Given the description of an element on the screen output the (x, y) to click on. 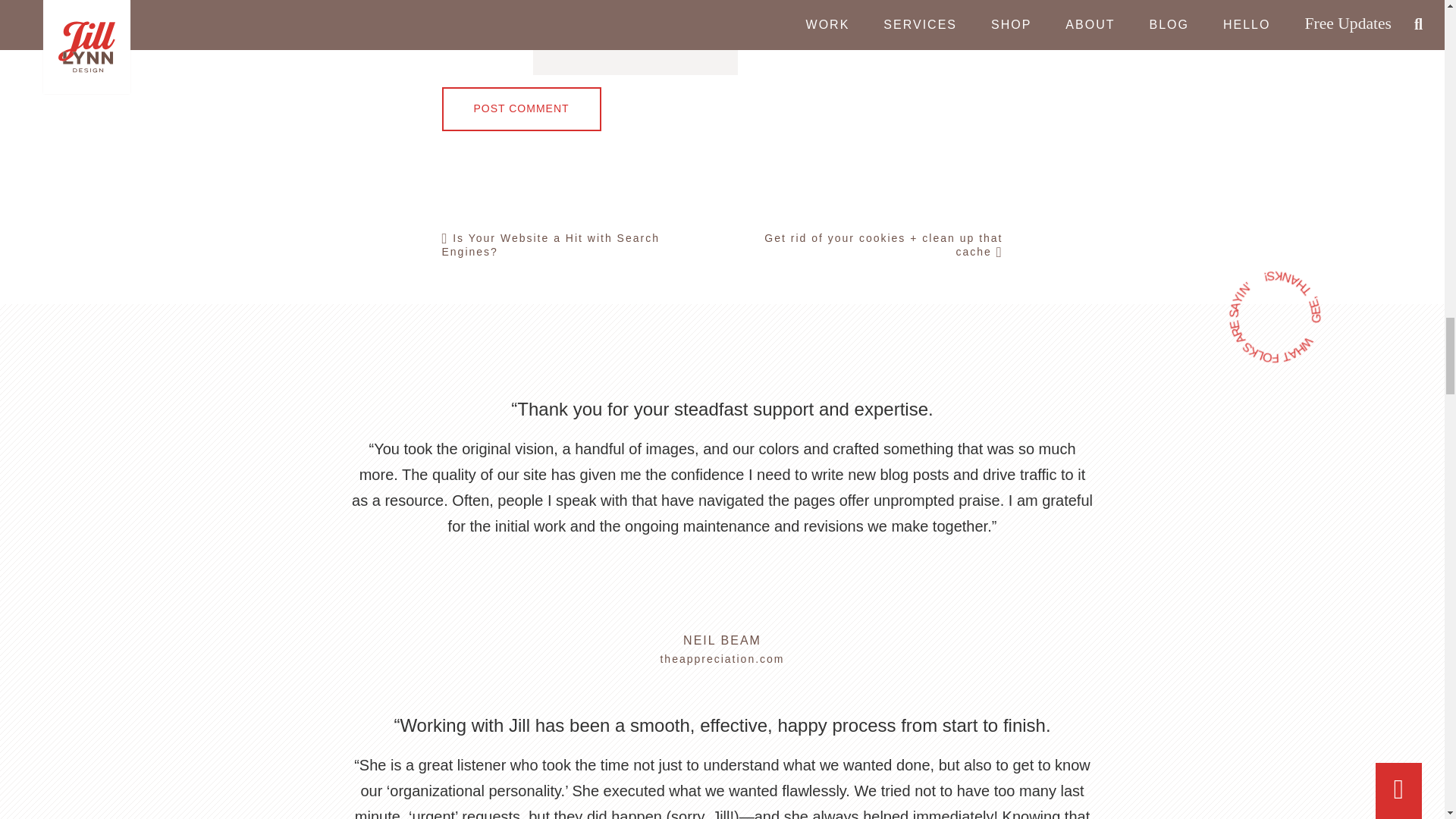
Post Comment (520, 108)
Post Comment (520, 108)
Is Your Website a Hit with Search Engines? (575, 244)
